Given the description of an element on the screen output the (x, y) to click on. 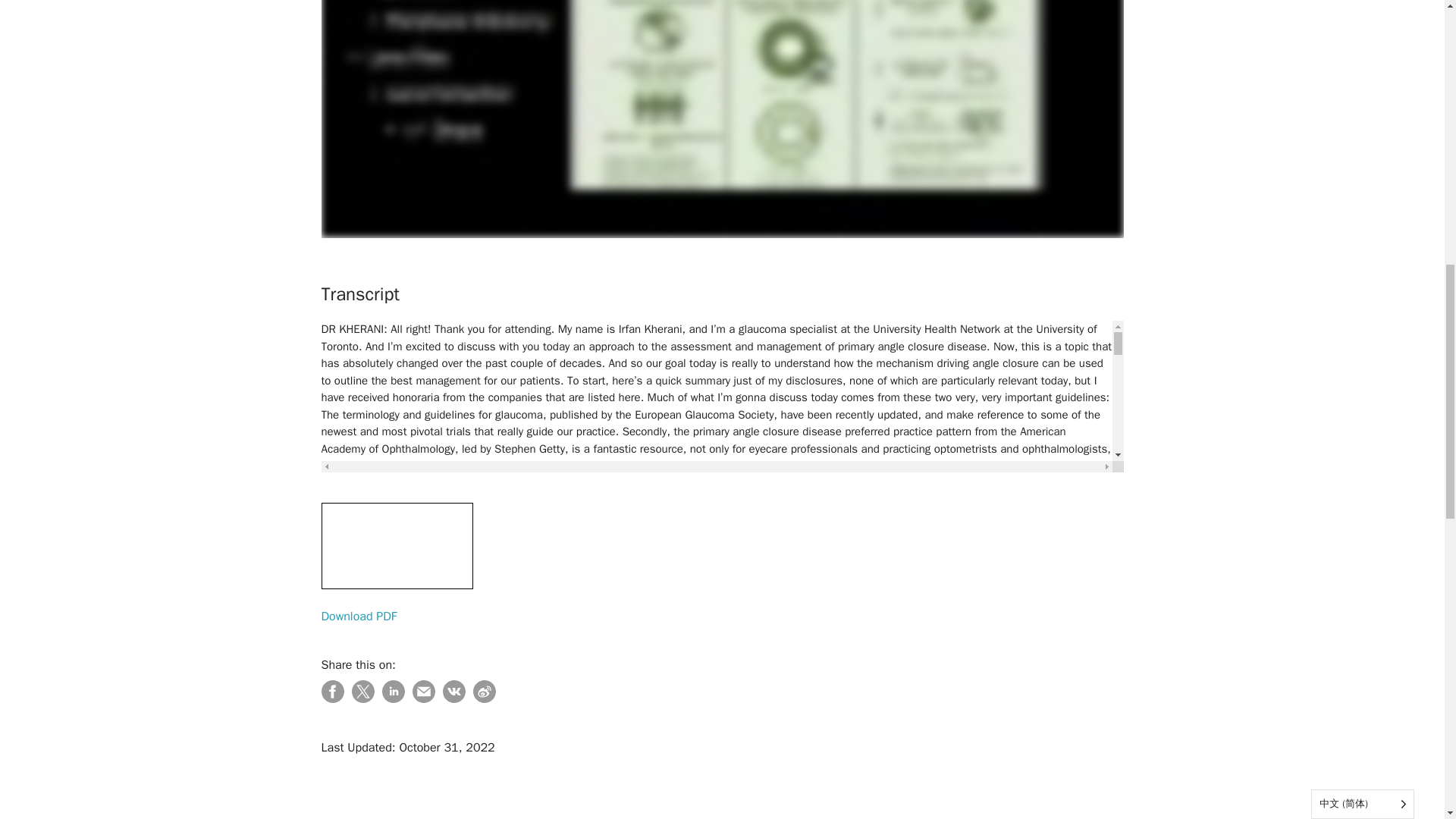
Email this post! (423, 698)
Share this post! (392, 698)
Share this post! (332, 698)
Add this post! (484, 698)
Download PDF (722, 563)
Add this post! (453, 698)
Tweet this post! (363, 698)
